Given the description of an element on the screen output the (x, y) to click on. 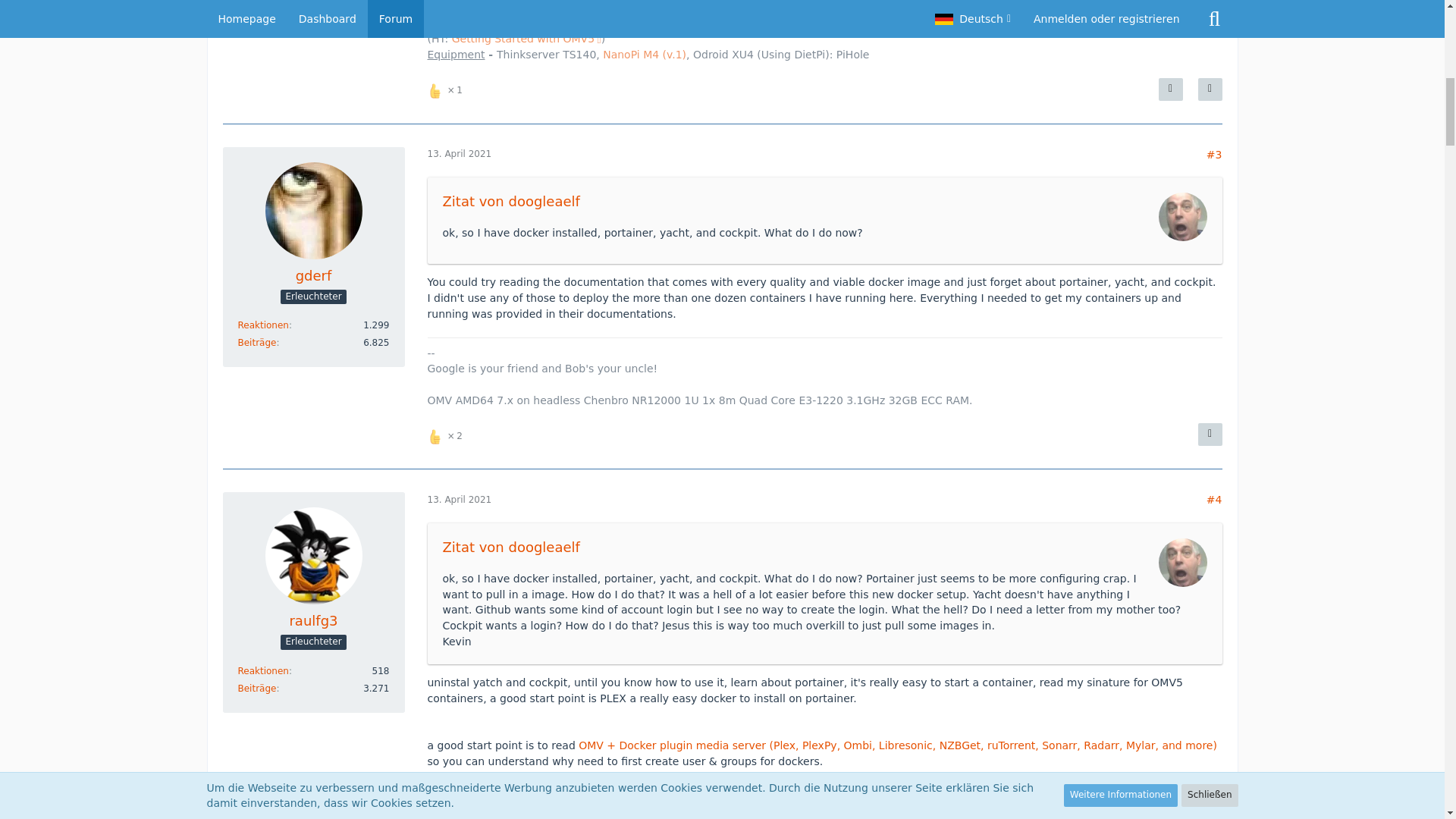
Getting Started with OMV5 (526, 38)
13. April 2021, 09:29 (460, 499)
13. April 2021, 00:21 (460, 153)
1 (446, 88)
